Given the description of an element on the screen output the (x, y) to click on. 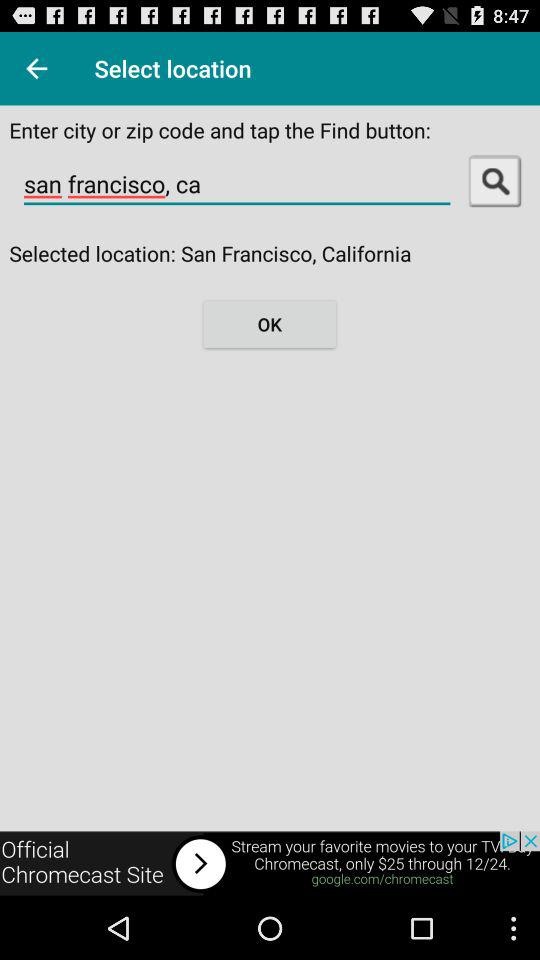
go back (36, 68)
